Given the description of an element on the screen output the (x, y) to click on. 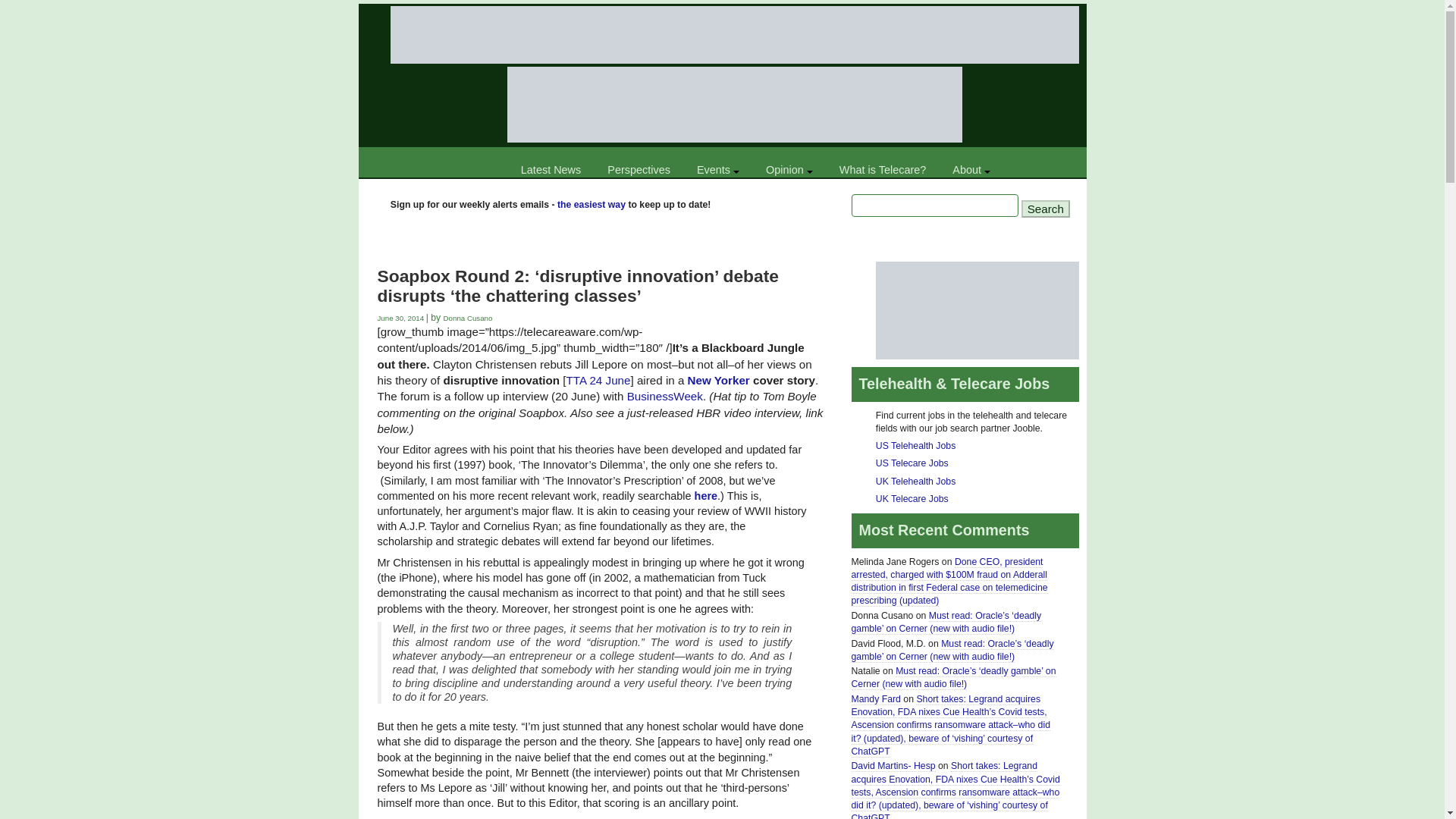
What is Telecare? (882, 169)
Perspectives (638, 169)
Events (717, 169)
Opinion (789, 169)
the easiest way (591, 204)
About (970, 169)
Search (1046, 208)
Latest News (550, 169)
Search (1046, 208)
